Given the description of an element on the screen output the (x, y) to click on. 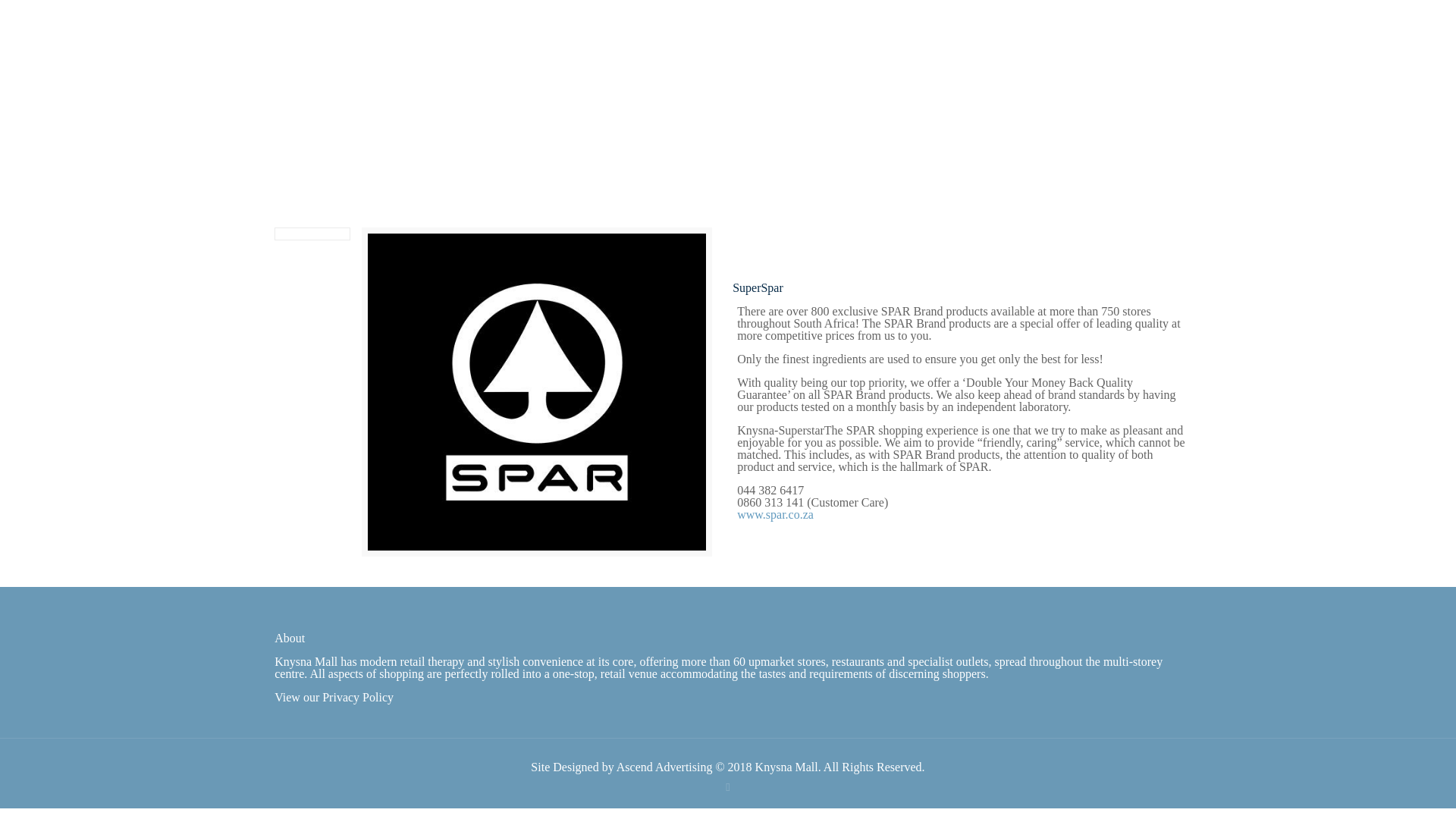
Facebook (727, 787)
www.spar.co.za (774, 513)
View our Privacy Policy (334, 697)
